Given the description of an element on the screen output the (x, y) to click on. 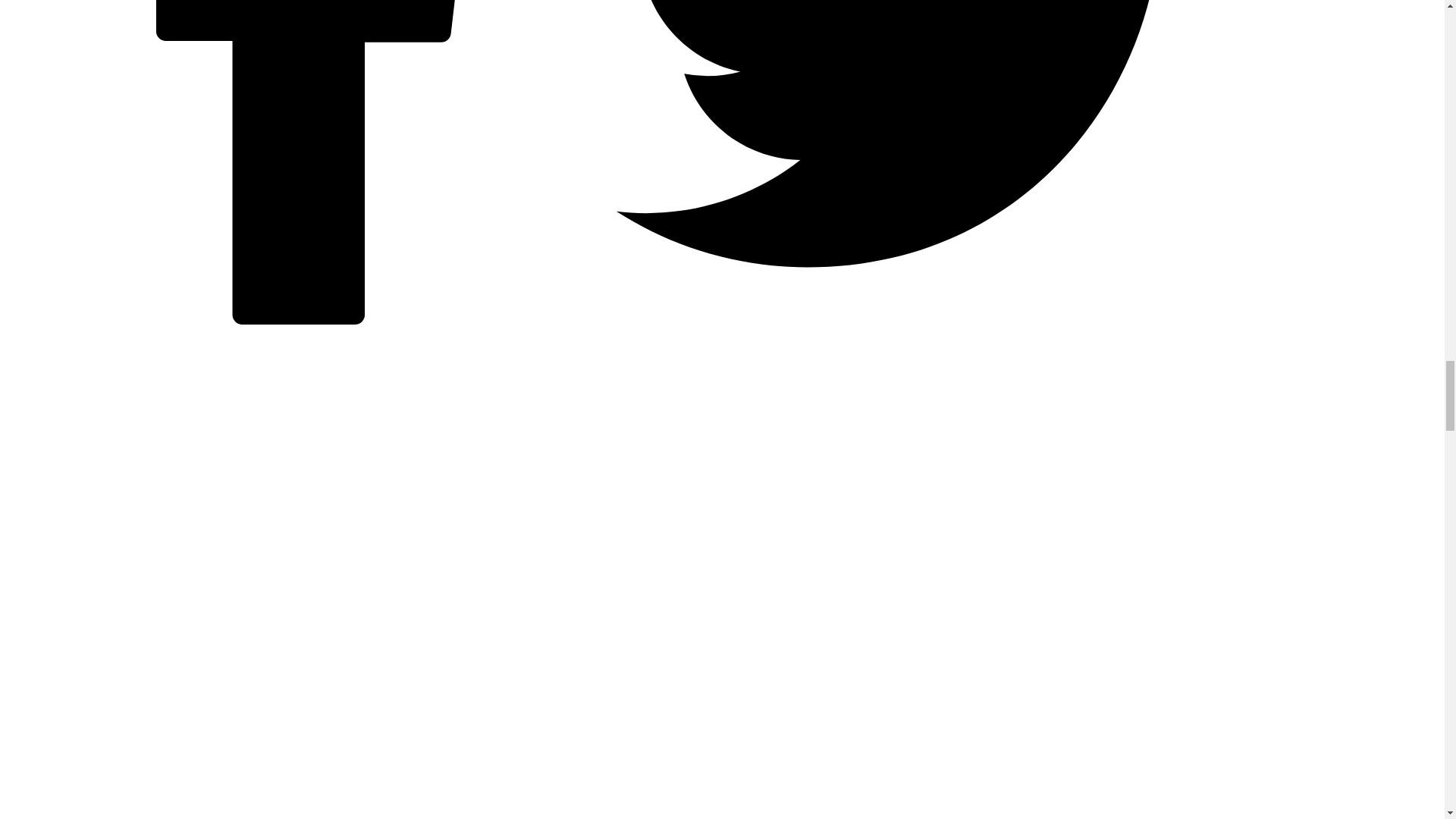
Tweet This Post (919, 319)
Share on Facebook (310, 319)
